Given the description of an element on the screen output the (x, y) to click on. 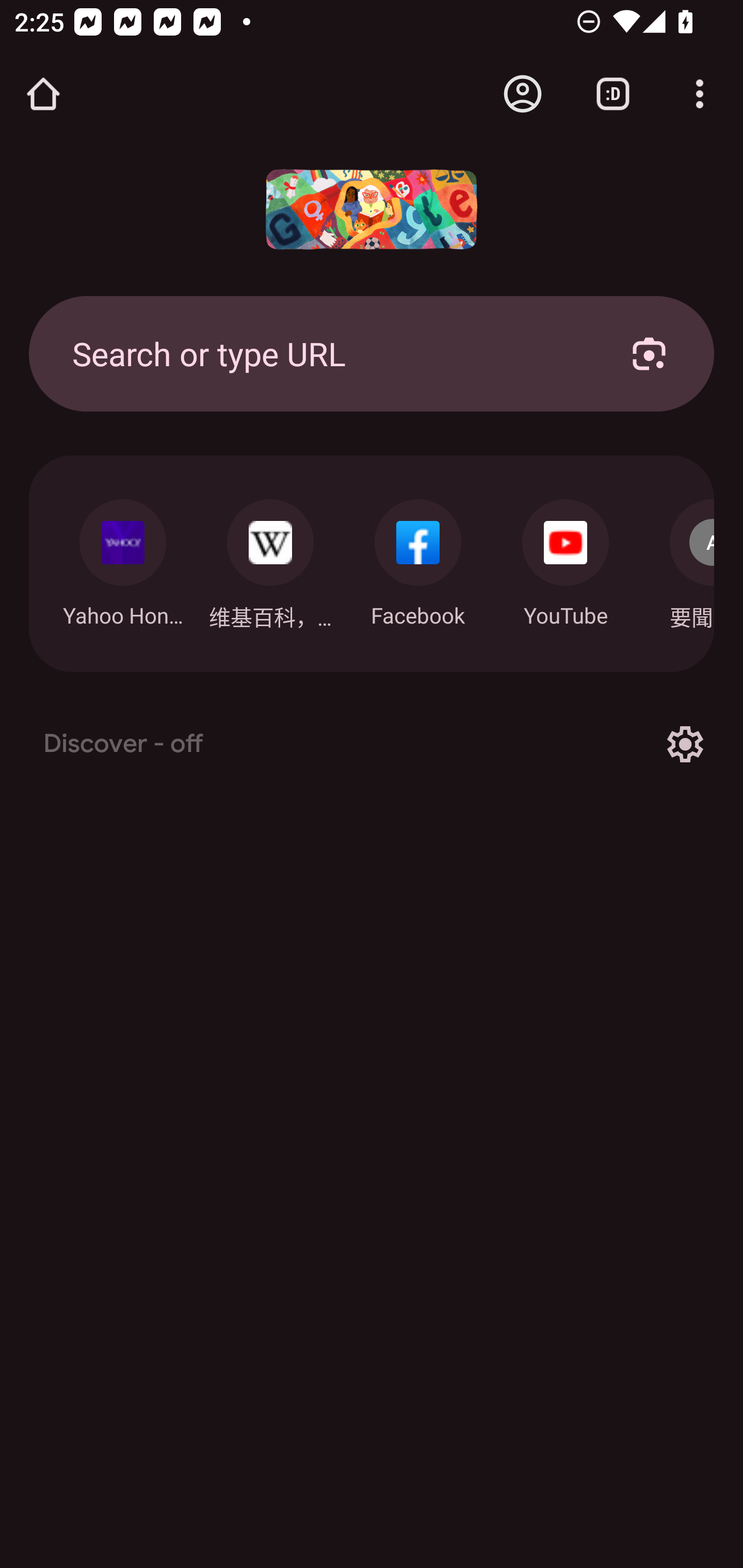
Open the home page (43, 93)
Switch or close tabs (612, 93)
Customize and control Google Chrome (699, 93)
Google doodle: 2024 年國際婦女節 (371, 209)
Search or type URL (327, 353)
Search with your camera using Google Lens (648, 353)
Navigate: Facebook: m.facebook.com Facebook (417, 558)
Navigate: YouTube: m.youtube.com YouTube (565, 558)
Options for Discover (684, 743)
